Given the description of an element on the screen output the (x, y) to click on. 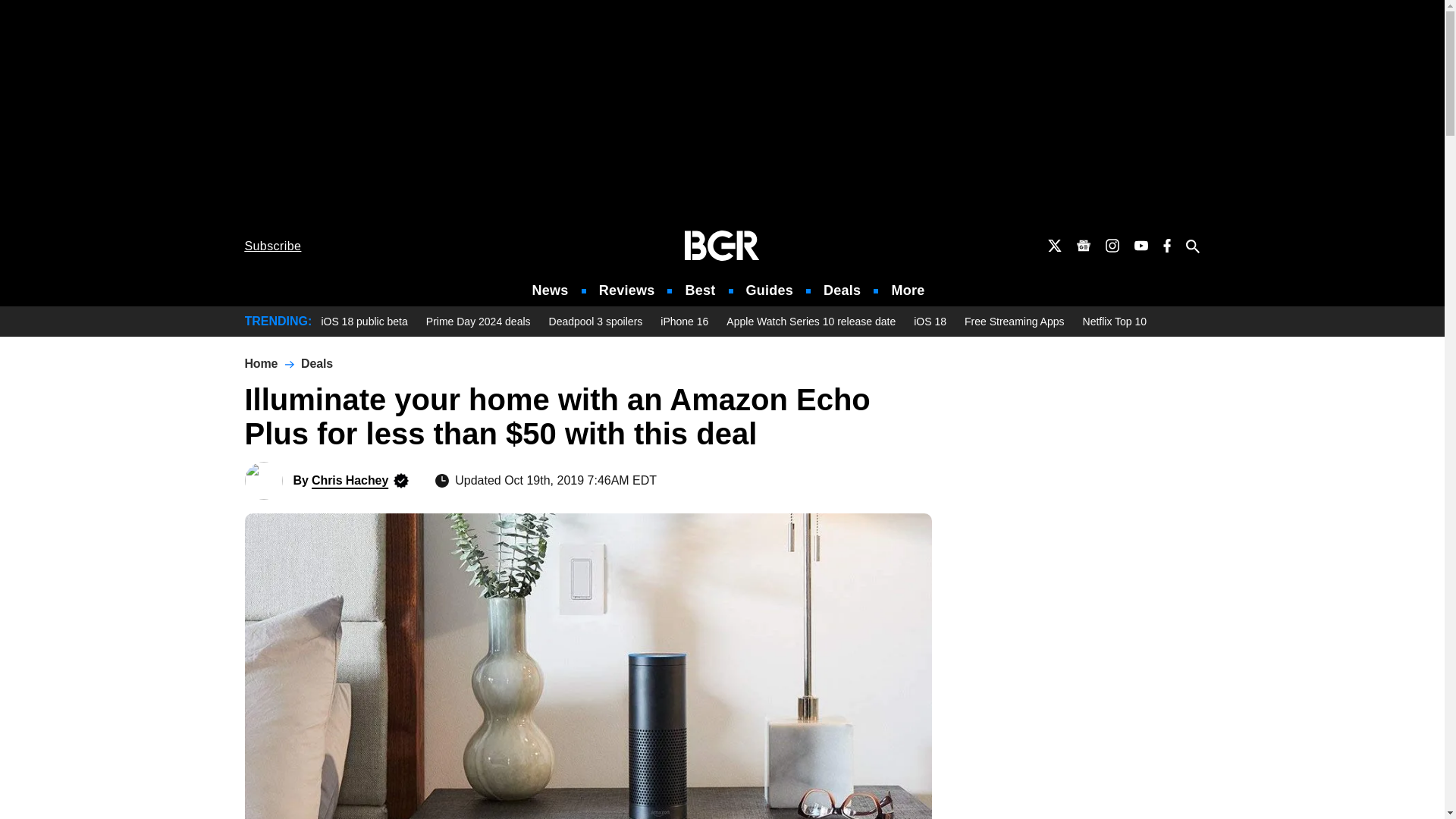
Guides (769, 290)
Deals (842, 290)
More (907, 290)
News (550, 290)
Subscribe (272, 245)
Posts by Chris Hachey (349, 480)
Best (699, 290)
Reviews (626, 290)
